Given the description of an element on the screen output the (x, y) to click on. 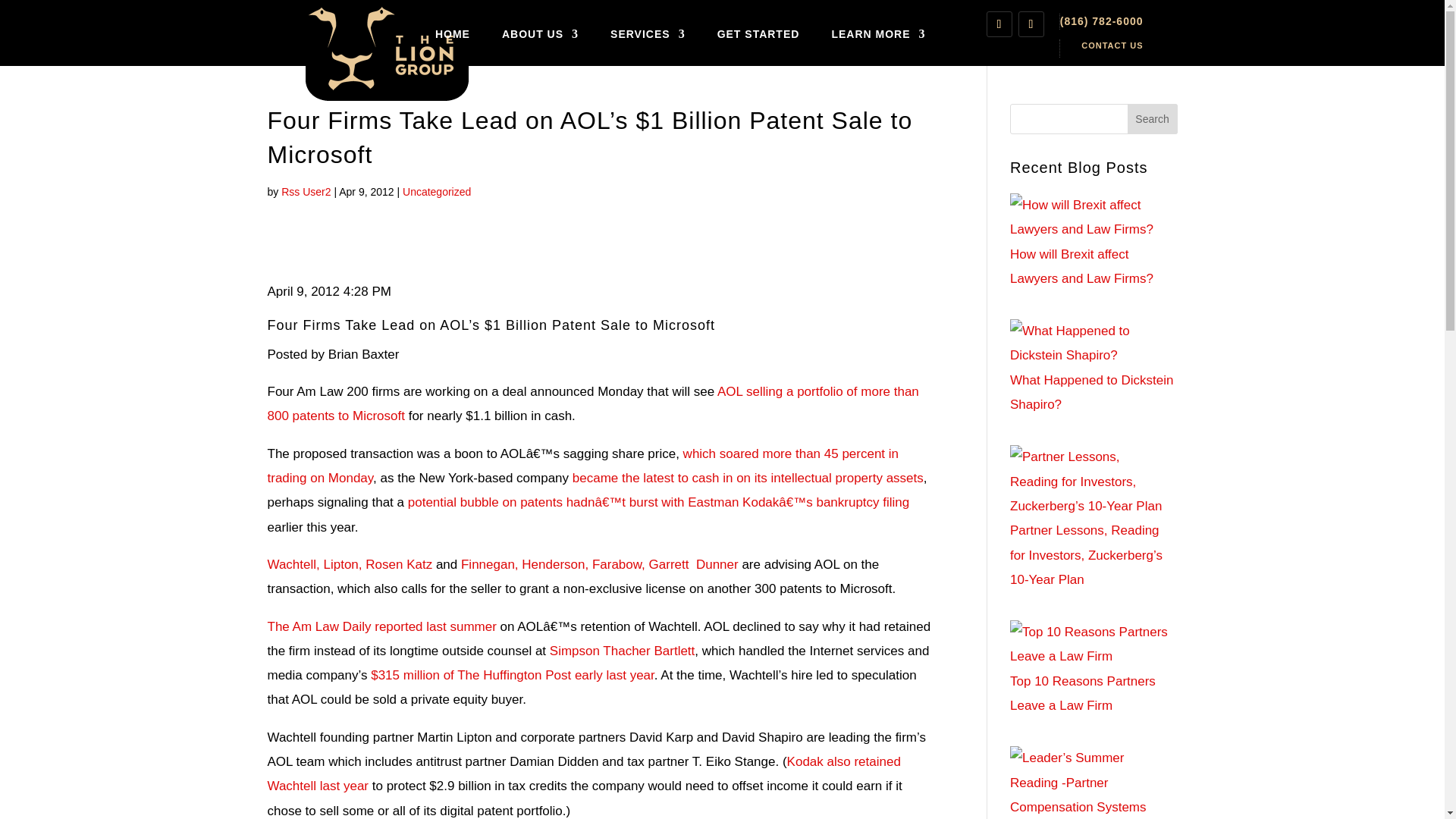
Simpson Thacher Bartlett (622, 650)
Kodak also retained Wachtell last year (582, 773)
Wachtell, Lipton, Rosen Katz (349, 564)
ABOUT US (540, 34)
Rss User2 (305, 191)
Posts by Rss User2 (305, 191)
Search (1151, 119)
The Am Law Daily reported last summer (381, 626)
LEARN MORE (877, 34)
which soared more than 45 percent in trading on Monday (582, 465)
Follow on Twitter (1030, 23)
Uncategorized (436, 191)
SERVICES (647, 34)
CONTACT US (1111, 44)
